Given the description of an element on the screen output the (x, y) to click on. 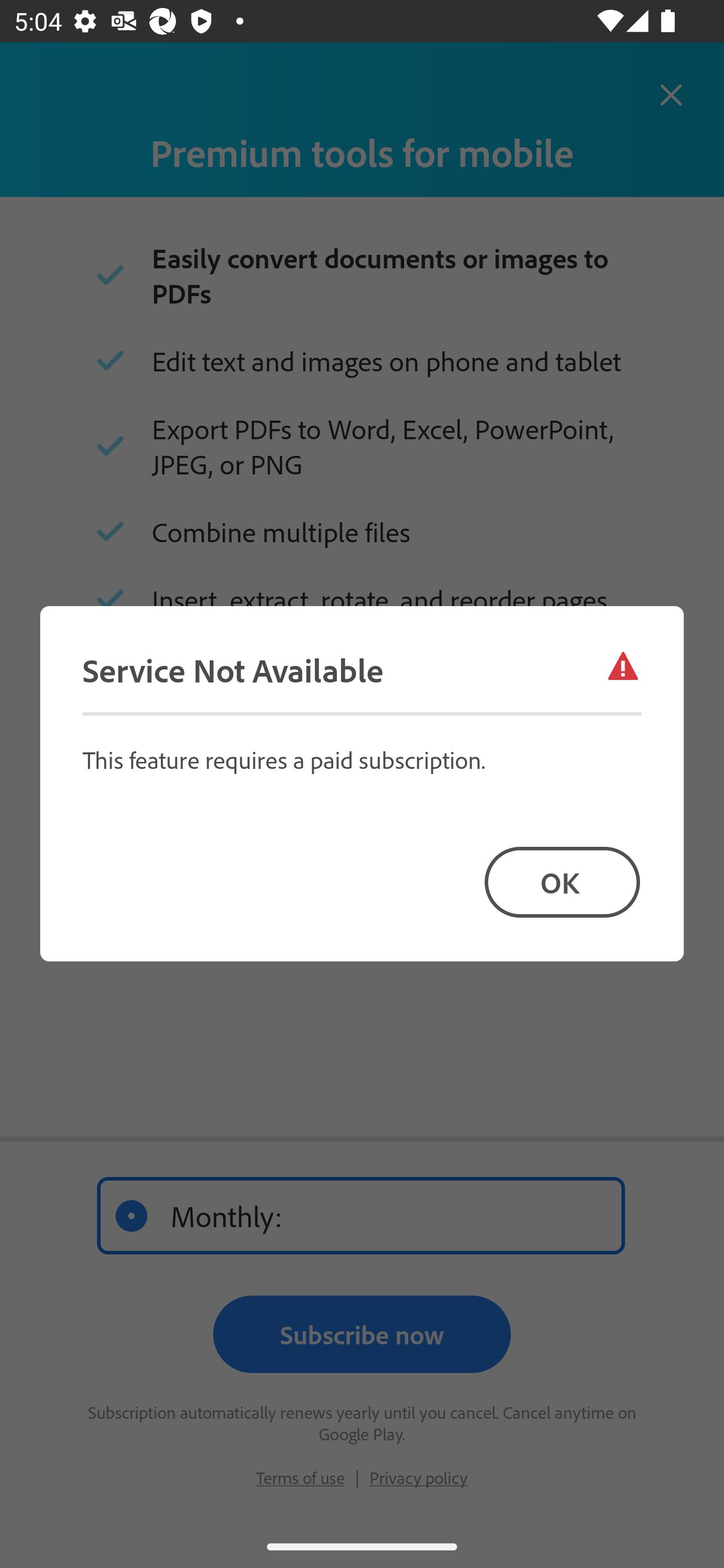
OK (561, 881)
